Given the description of an element on the screen output the (x, y) to click on. 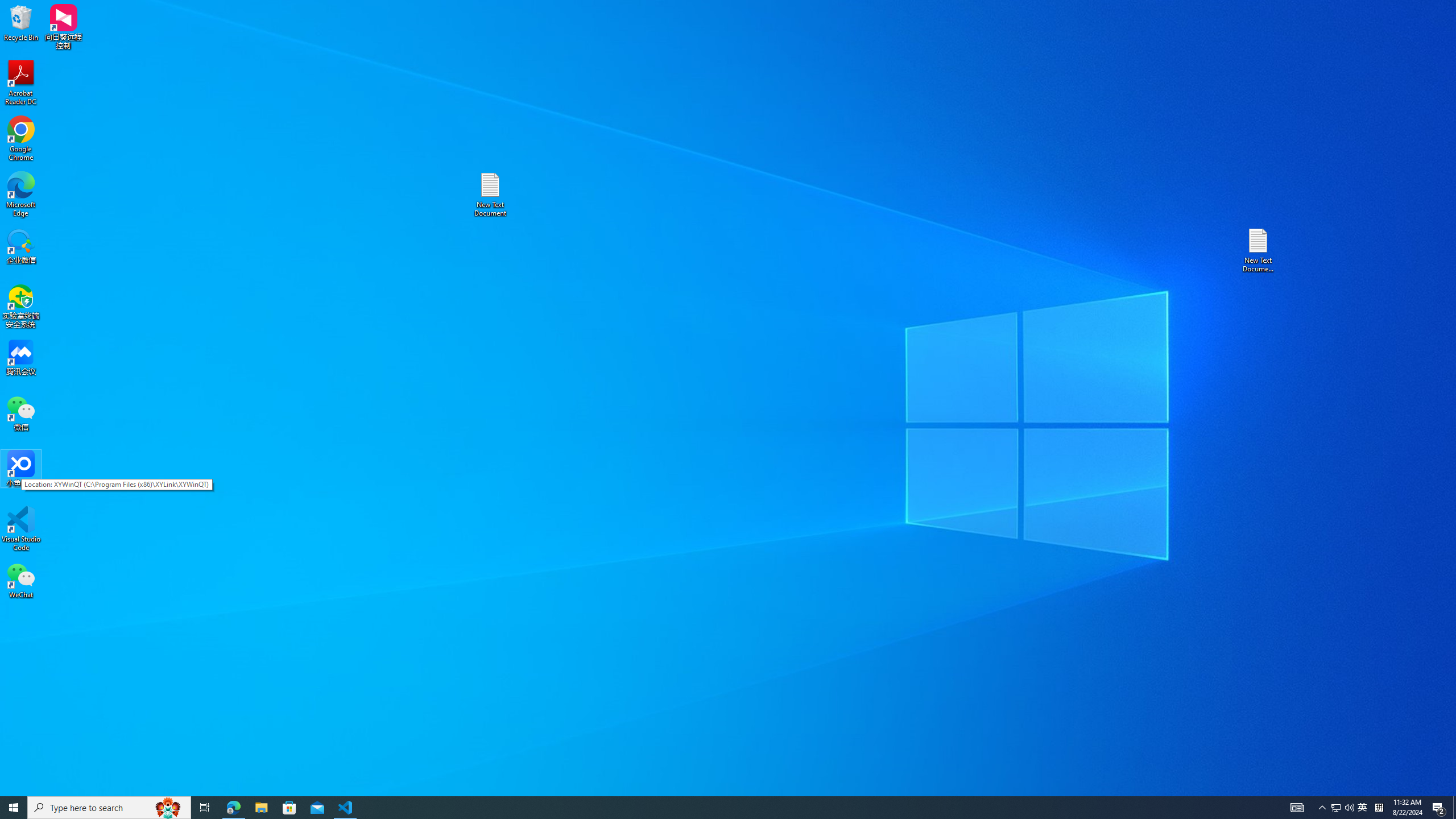
Acrobat Reader DC (21, 82)
Task View (204, 807)
Q2790: 100% (1349, 807)
Tray Input Indicator - Chinese (Simplified, China) (1378, 807)
WeChat (21, 580)
File Explorer (261, 807)
Action Center, 2 new notifications (1439, 807)
Notification Chevron (1322, 807)
AutomationID: 4105 (1297, 807)
Search highlights icon opens search home window (167, 807)
Microsoft Edge (21, 194)
